Given the description of an element on the screen output the (x, y) to click on. 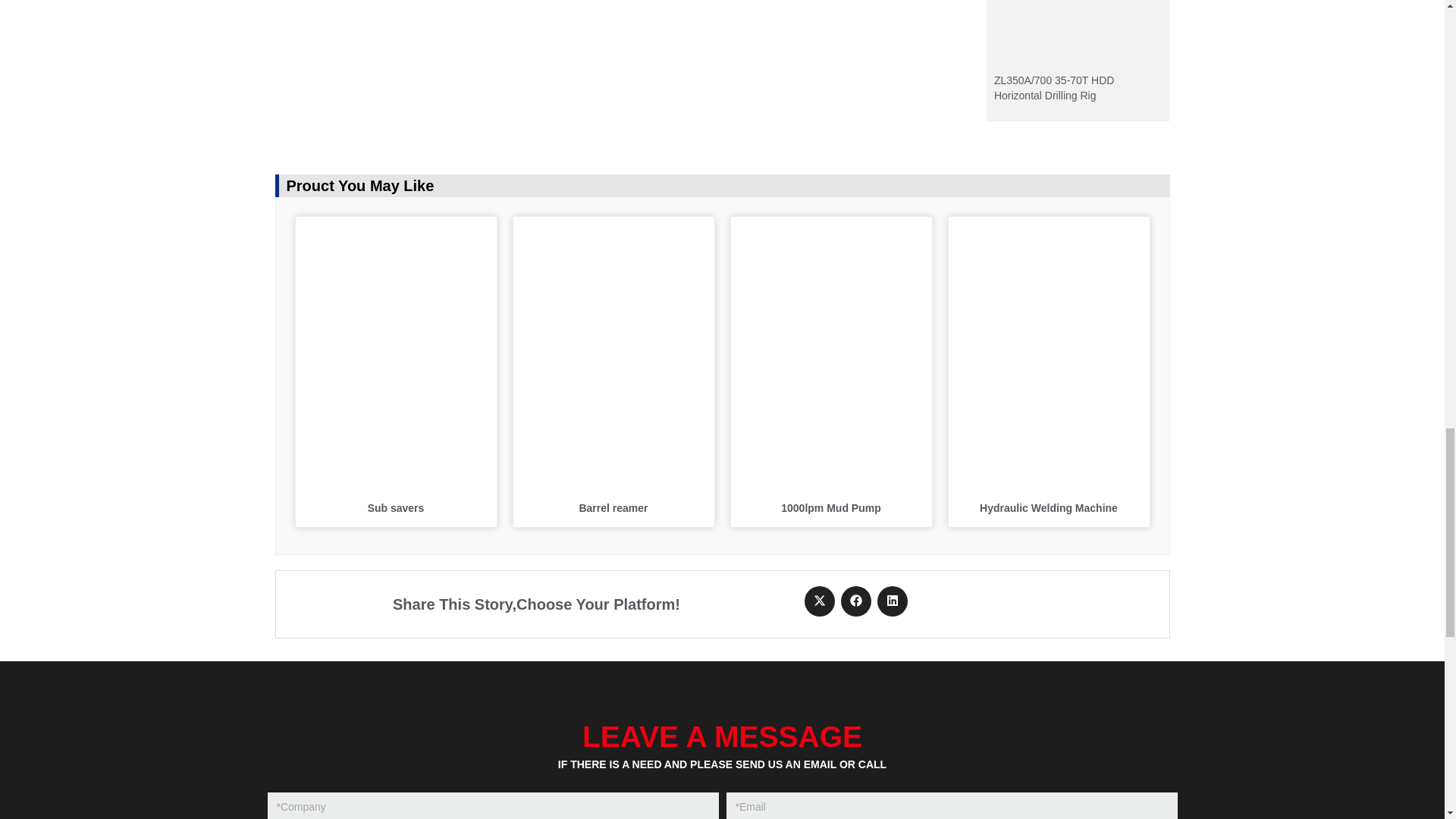
Share on X (819, 601)
Share on LinkedIn (892, 601)
Share on Facebook (855, 601)
